Given the description of an element on the screen output the (x, y) to click on. 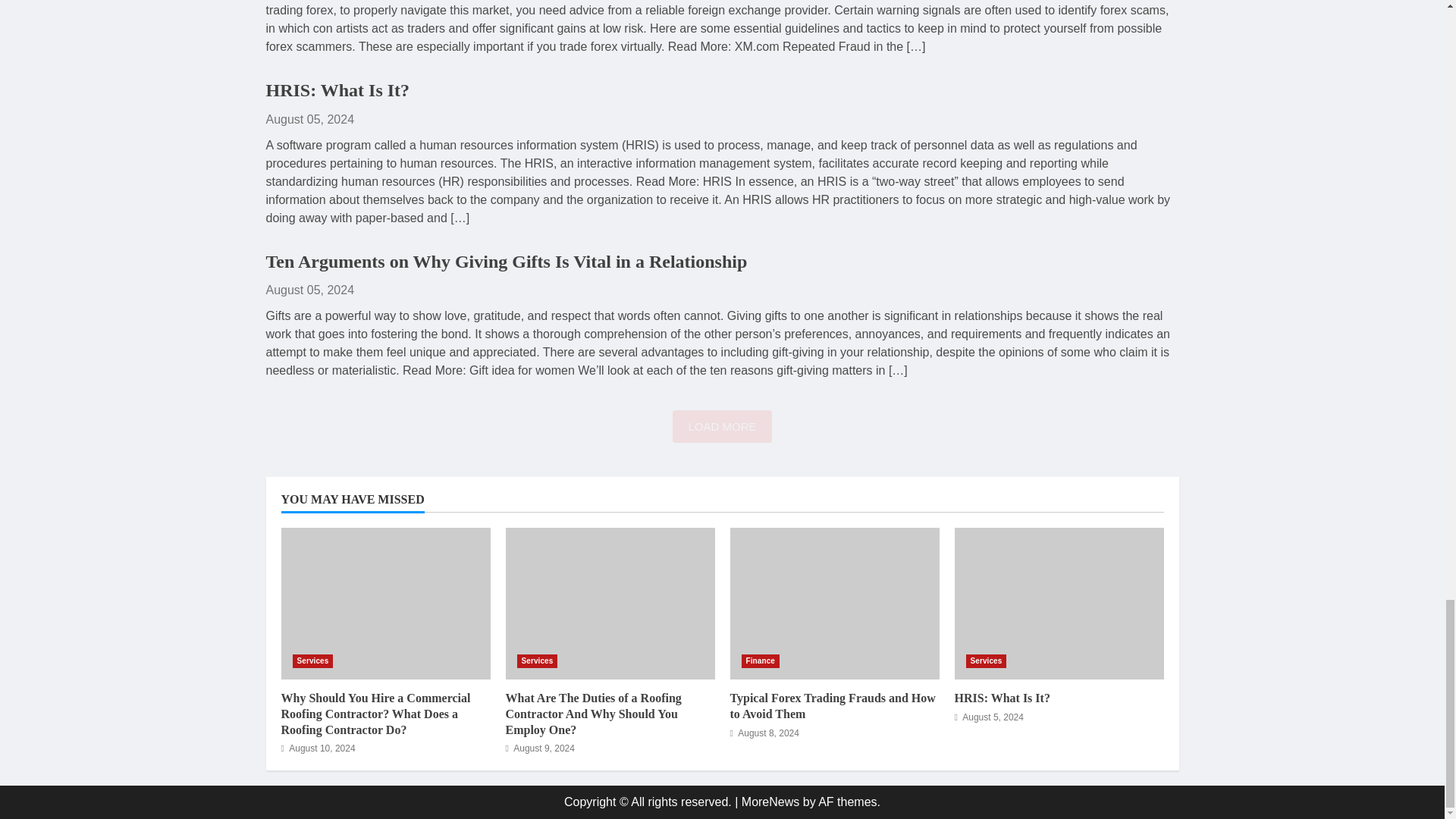
Ten Arguments on Why Giving Gifts Is Vital in a Relationship (505, 261)
LOAD MORE (721, 426)
HRIS: What Is It? (336, 89)
